Given the description of an element on the screen output the (x, y) to click on. 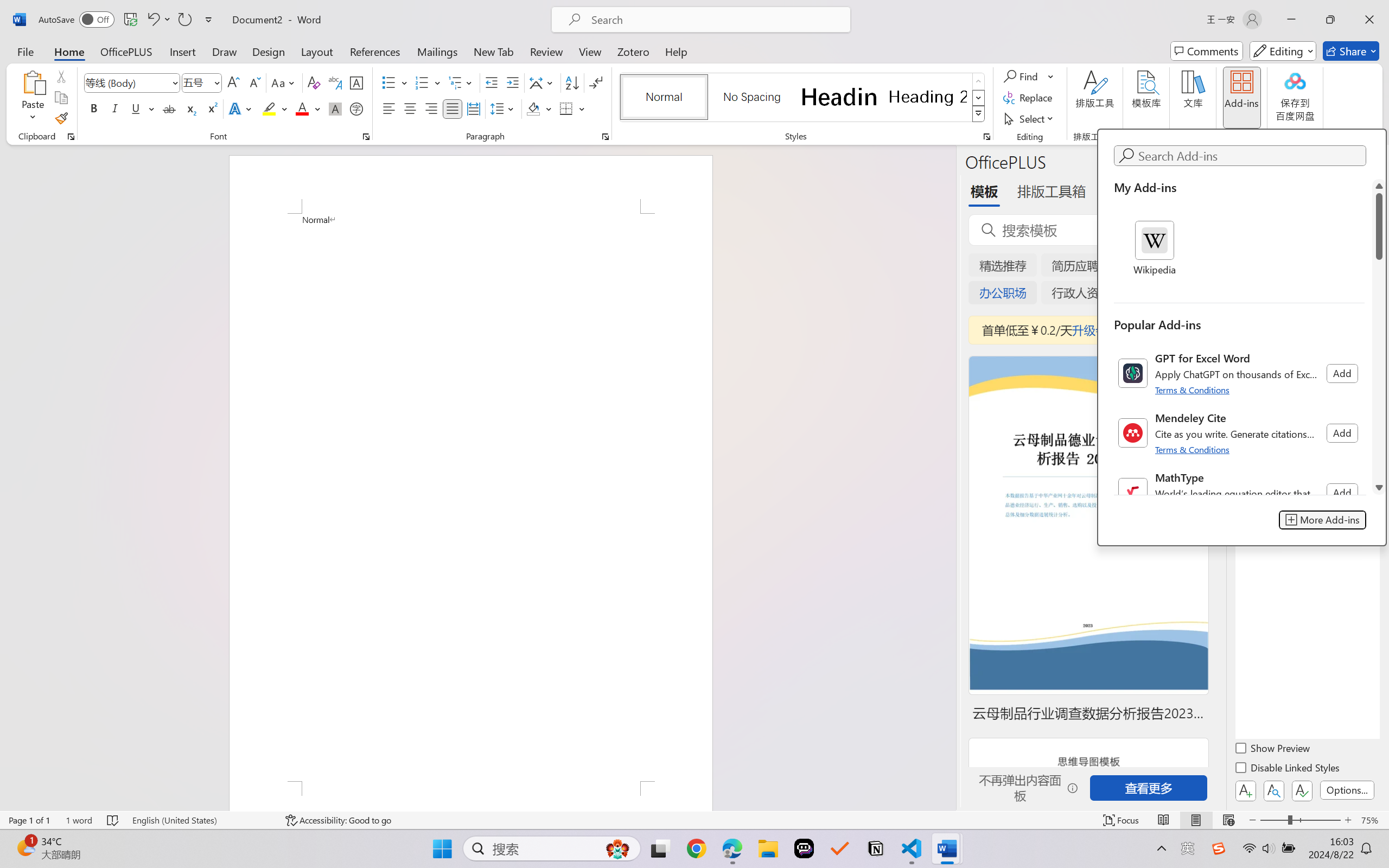
Open (215, 82)
Share (1350, 51)
Center (409, 108)
Terms & Conditions (1193, 449)
Review (546, 51)
Phonetic Guide... (334, 82)
Align Left (388, 108)
Quick Access Toolbar (127, 19)
Microsoft search (715, 19)
Show/Hide Editing Marks (595, 82)
Underline (142, 108)
OfficePLUS (126, 51)
Design (268, 51)
Format Painter (60, 118)
